Given the description of an element on the screen output the (x, y) to click on. 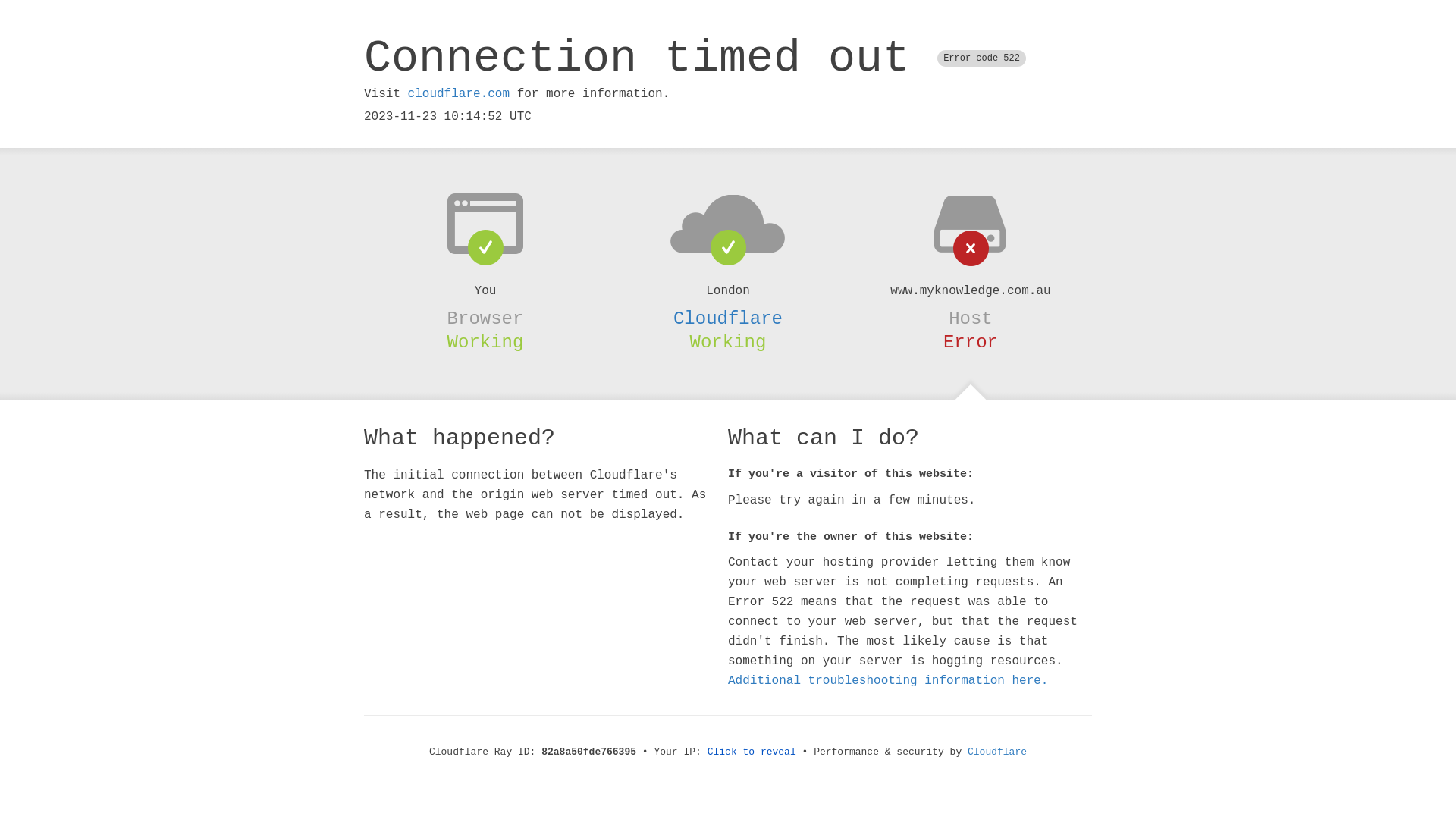
Cloudflare Element type: text (996, 751)
Additional troubleshooting information here. Element type: text (888, 680)
cloudflare.com Element type: text (458, 93)
Cloudflare Element type: text (727, 318)
Click to reveal Element type: text (751, 751)
